Given the description of an element on the screen output the (x, y) to click on. 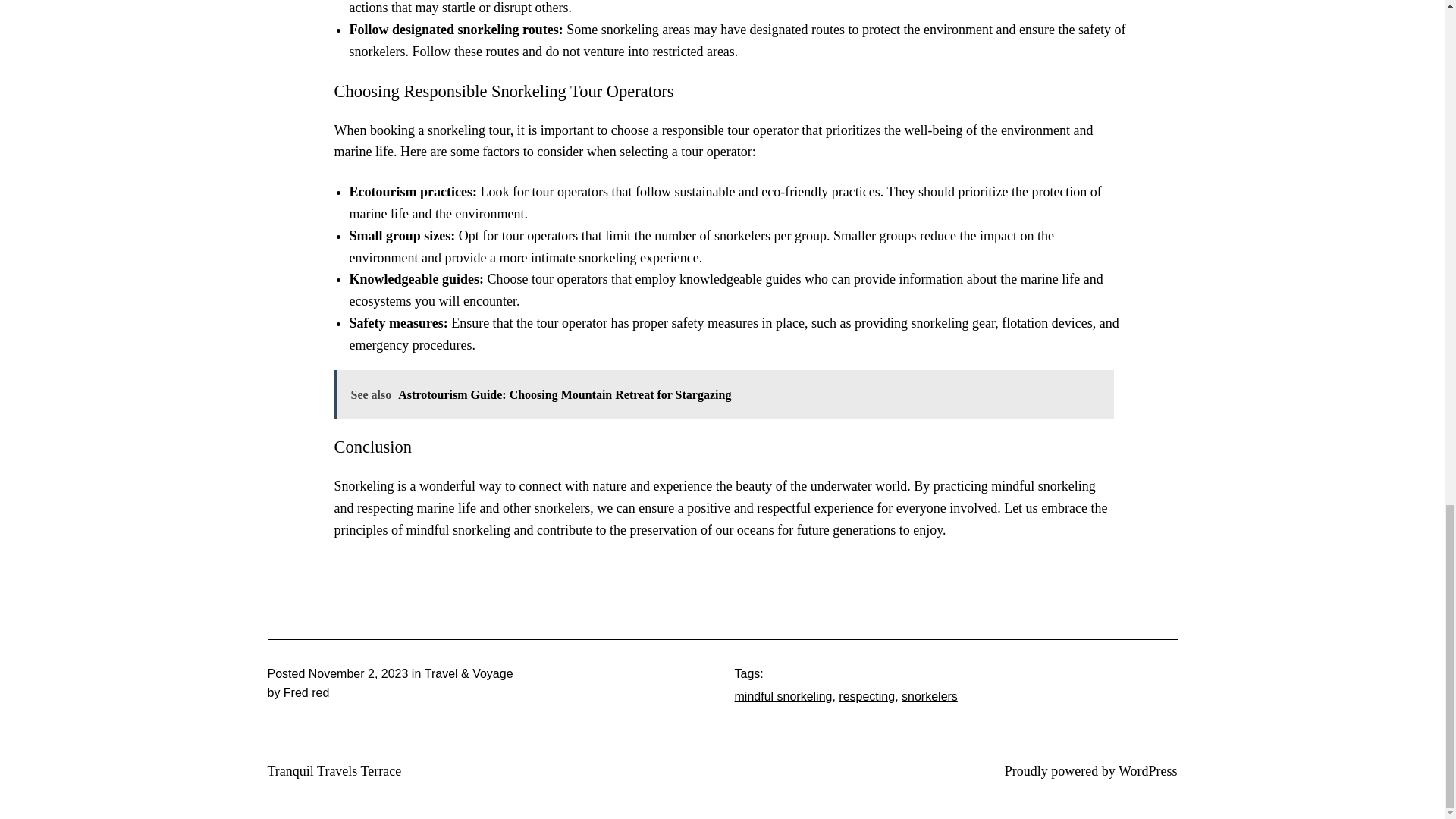
respecting (866, 696)
Tranquil Travels Terrace (333, 770)
WordPress (1147, 770)
mindful snorkeling (782, 696)
snorkelers (929, 696)
